Given the description of an element on the screen output the (x, y) to click on. 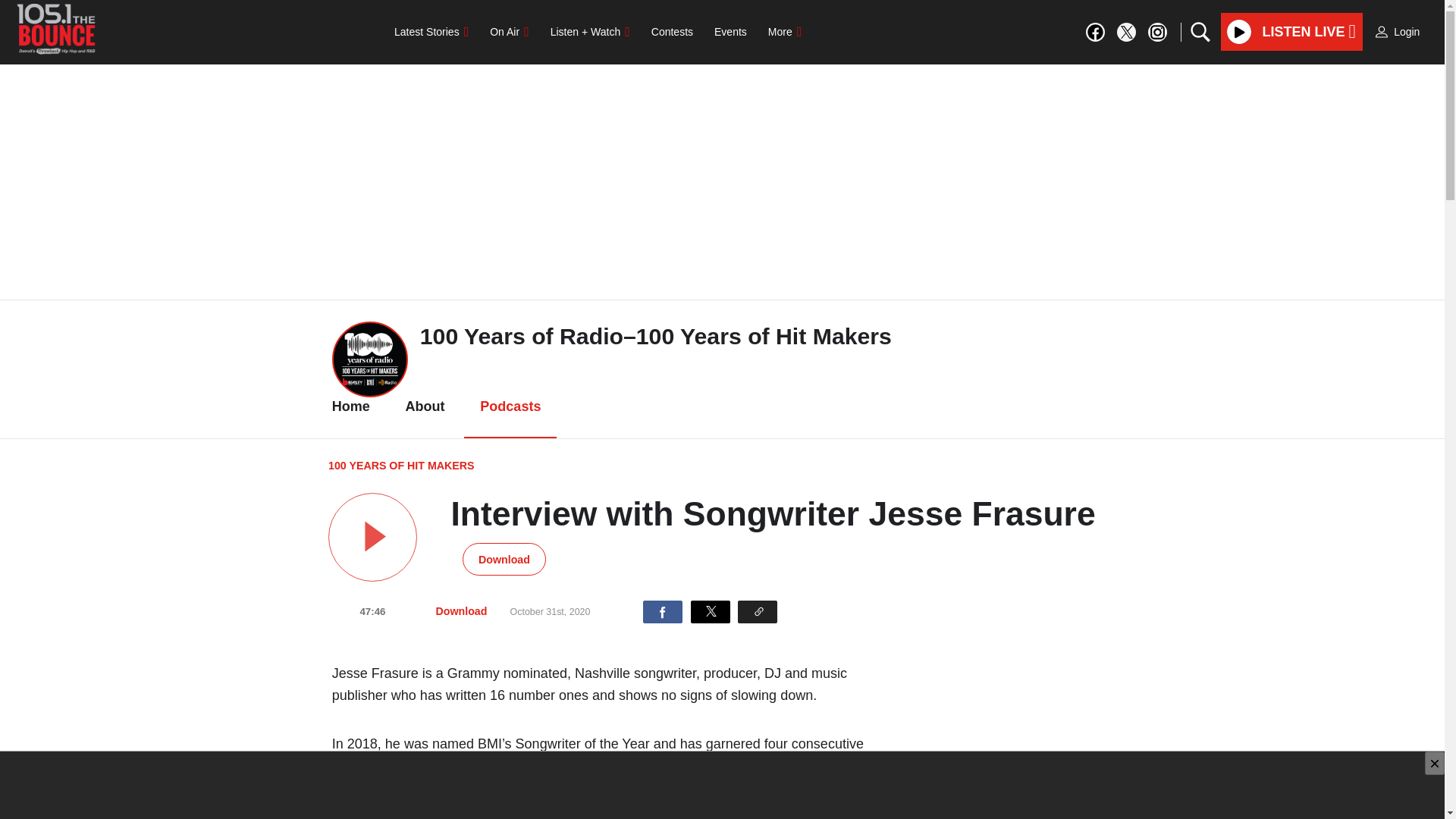
Latest Stories (431, 31)
More (784, 31)
Contests (671, 31)
Events (730, 31)
On Air (508, 31)
